Given the description of an element on the screen output the (x, y) to click on. 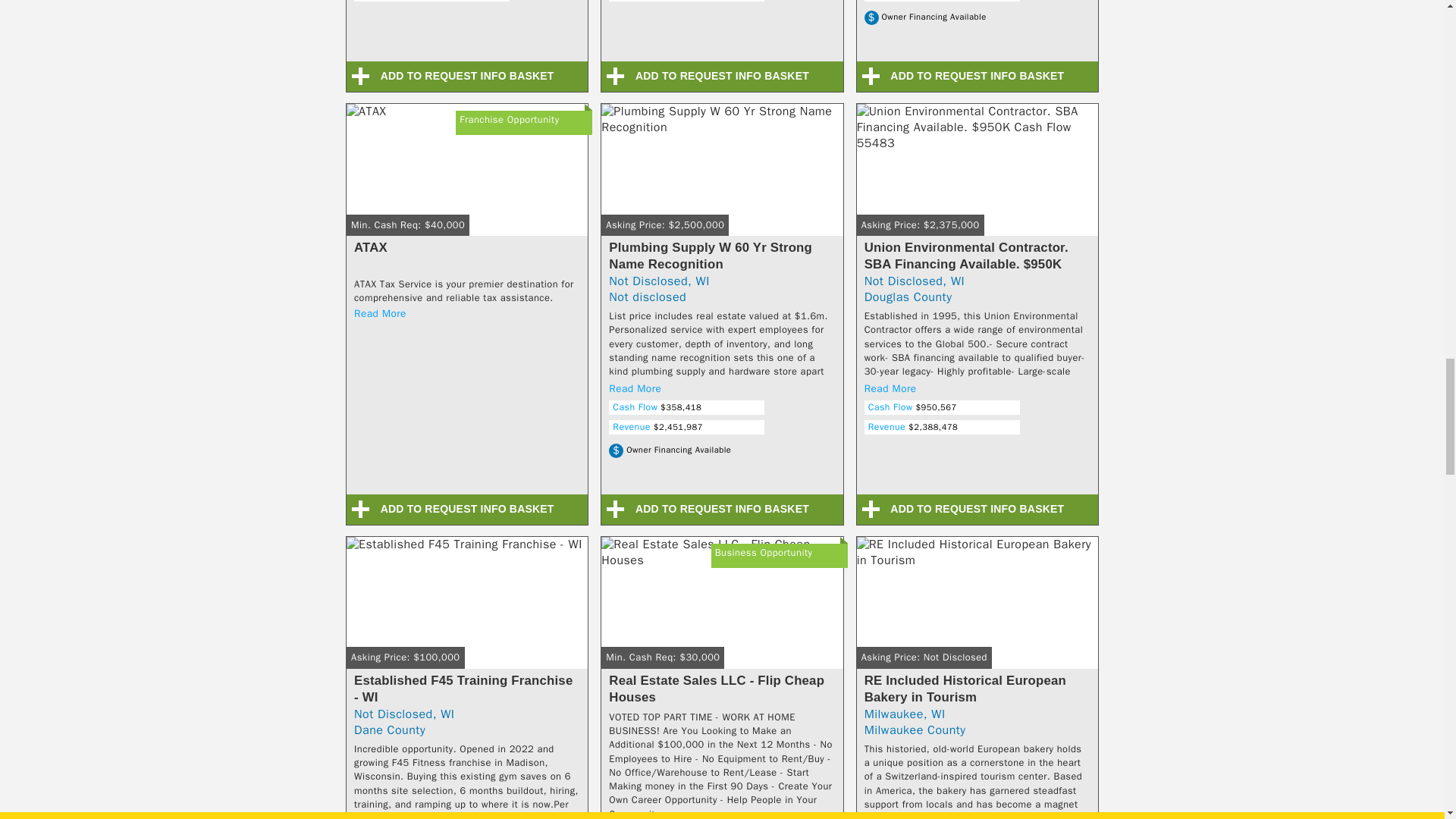
Plumbing Supply W 60  Yr Strong Name Recognition (722, 177)
Established F45 Training Franchise - WI (467, 610)
ATAX (467, 177)
